Given the description of an element on the screen output the (x, y) to click on. 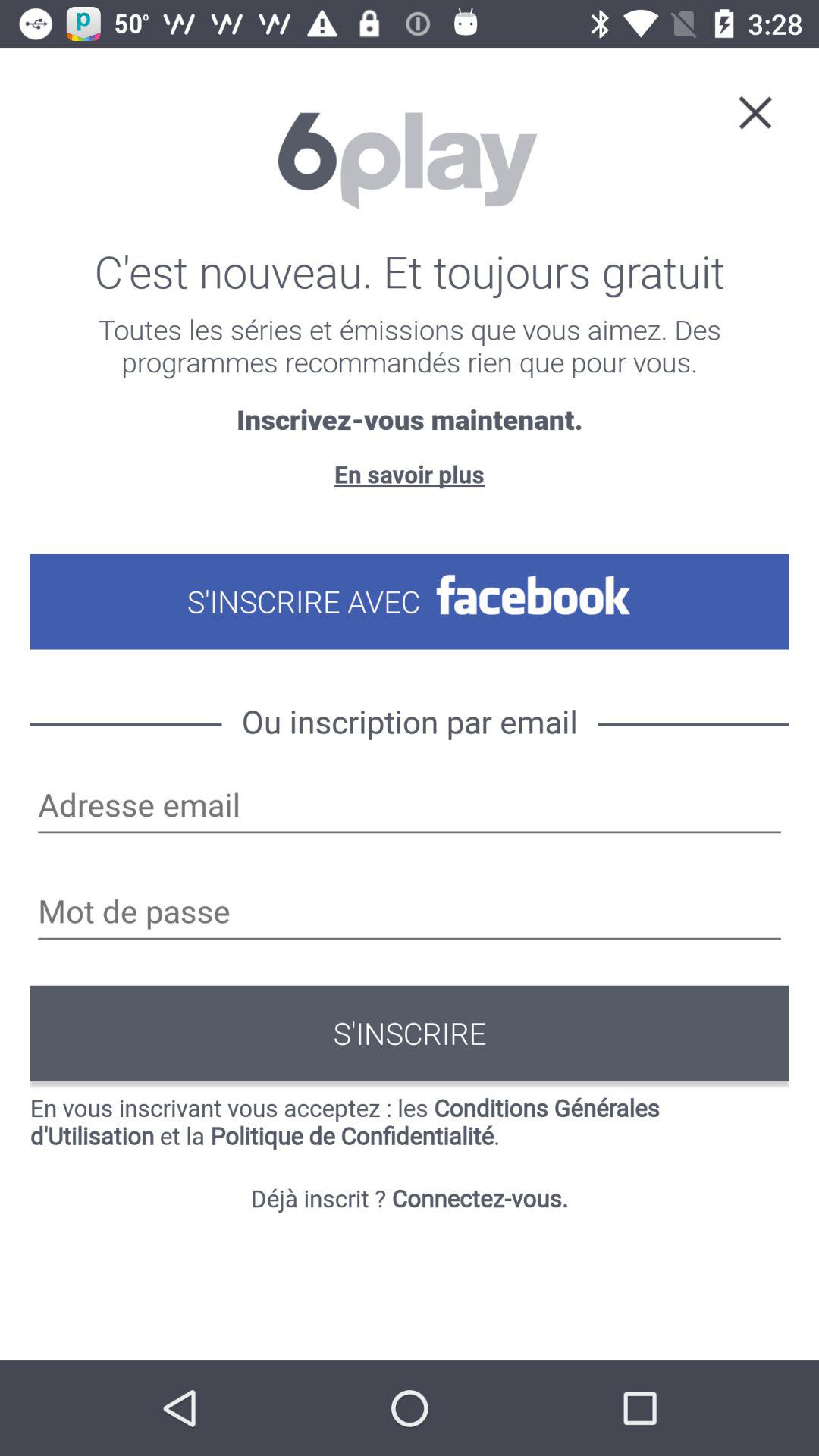
jump until en savoir plus icon (409, 473)
